Given the description of an element on the screen output the (x, y) to click on. 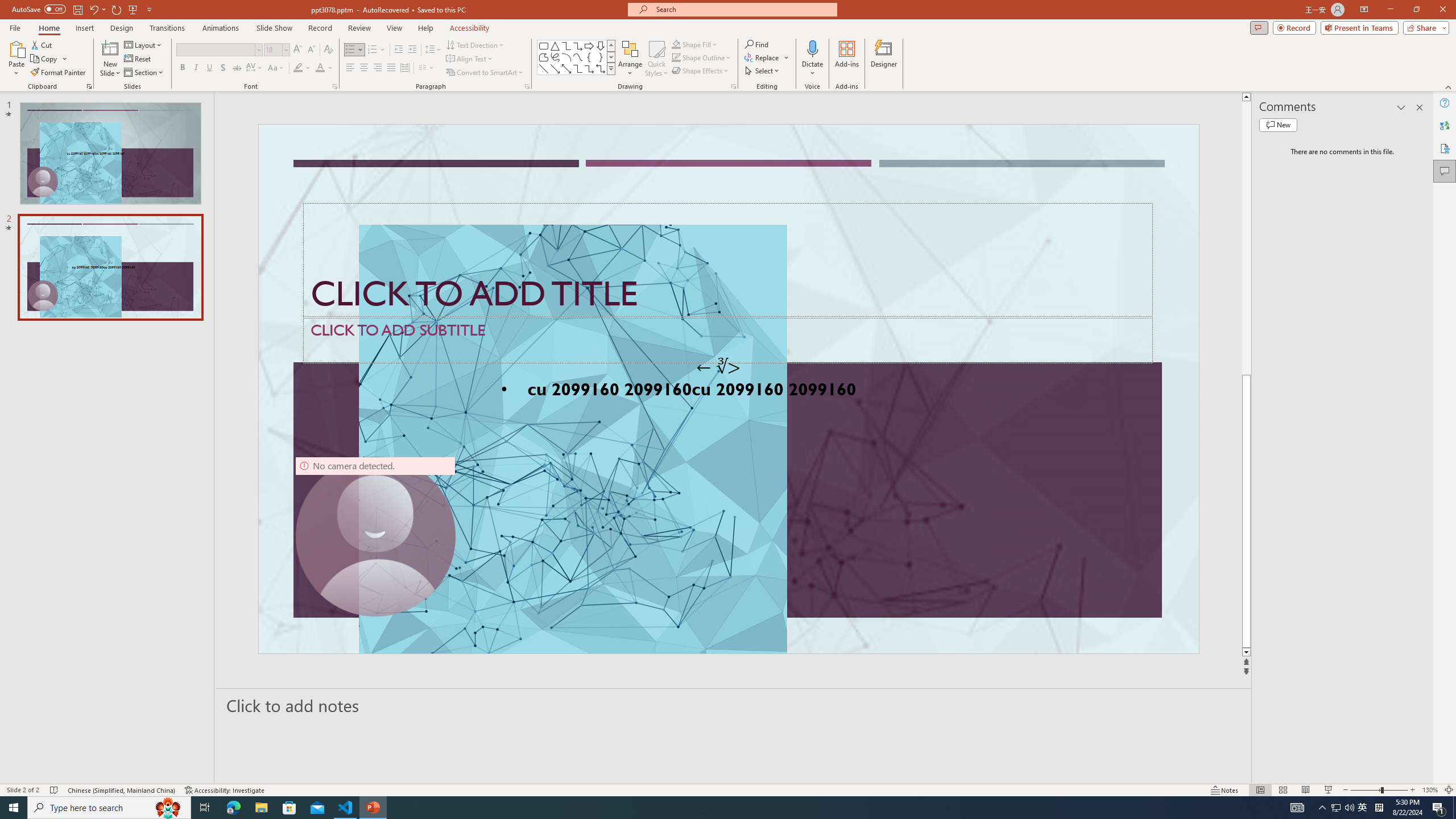
Increase Font Size (297, 49)
Accessibility Checker Accessibility: Investigate (224, 790)
Connector: Elbow Double-Arrow (600, 68)
Camera 9, No camera detected. (374, 536)
Shape Effects (700, 69)
Shapes (611, 68)
Task Pane Options (1400, 107)
Decrease Font Size (310, 49)
TextBox 7 (718, 367)
Line Spacing (433, 49)
Comments (1444, 170)
Arrange (630, 58)
Text Highlight Color (302, 67)
Replace... (767, 56)
